Given the description of an element on the screen output the (x, y) to click on. 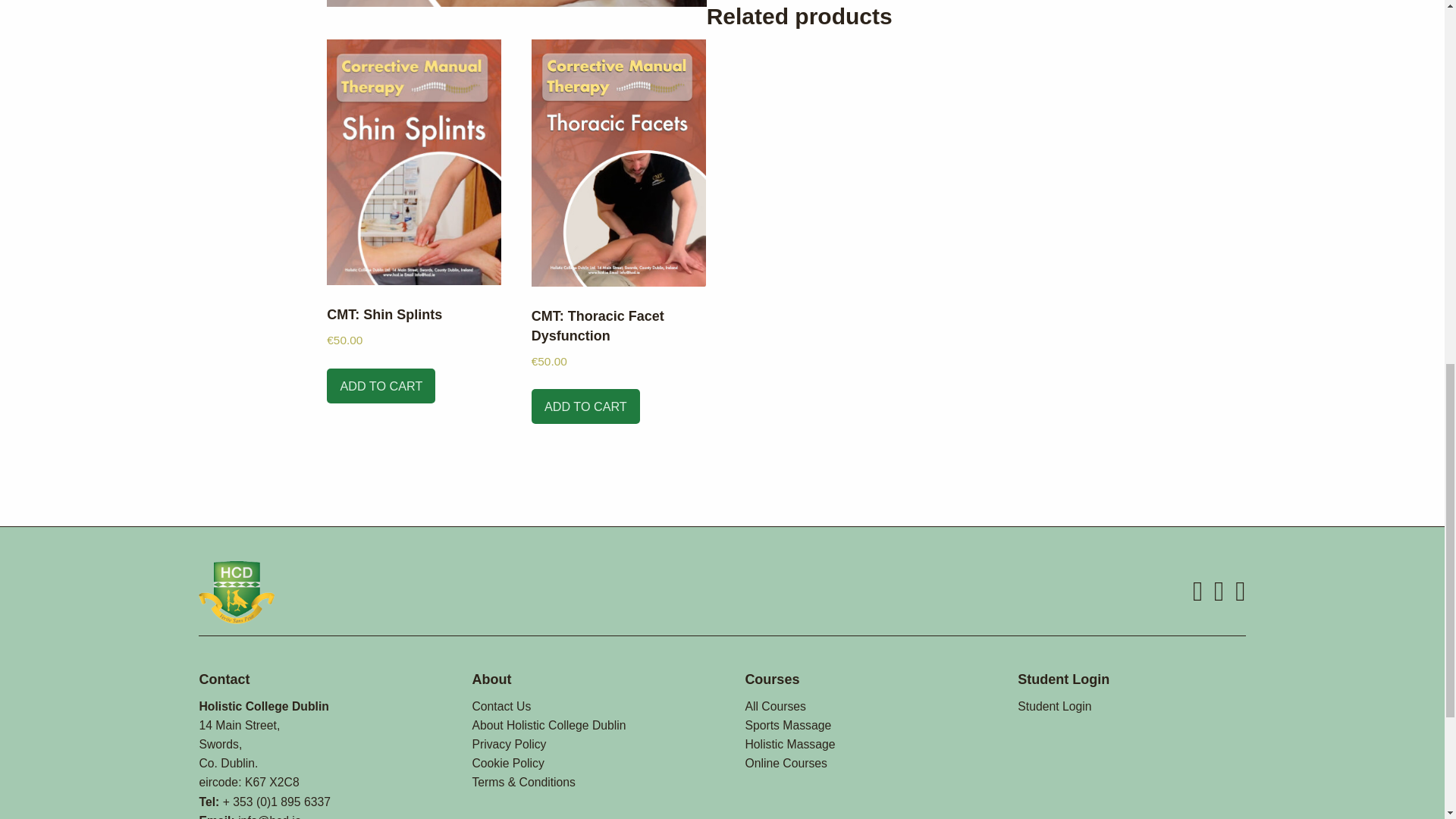
About Holistic College Dublin (548, 725)
ADD TO CART (585, 406)
Privacy Policy (508, 744)
Subacromial Impingement front cover (516, 3)
Cookie Policy (507, 762)
ADD TO CART (380, 385)
Contact Us (501, 706)
